Given the description of an element on the screen output the (x, y) to click on. 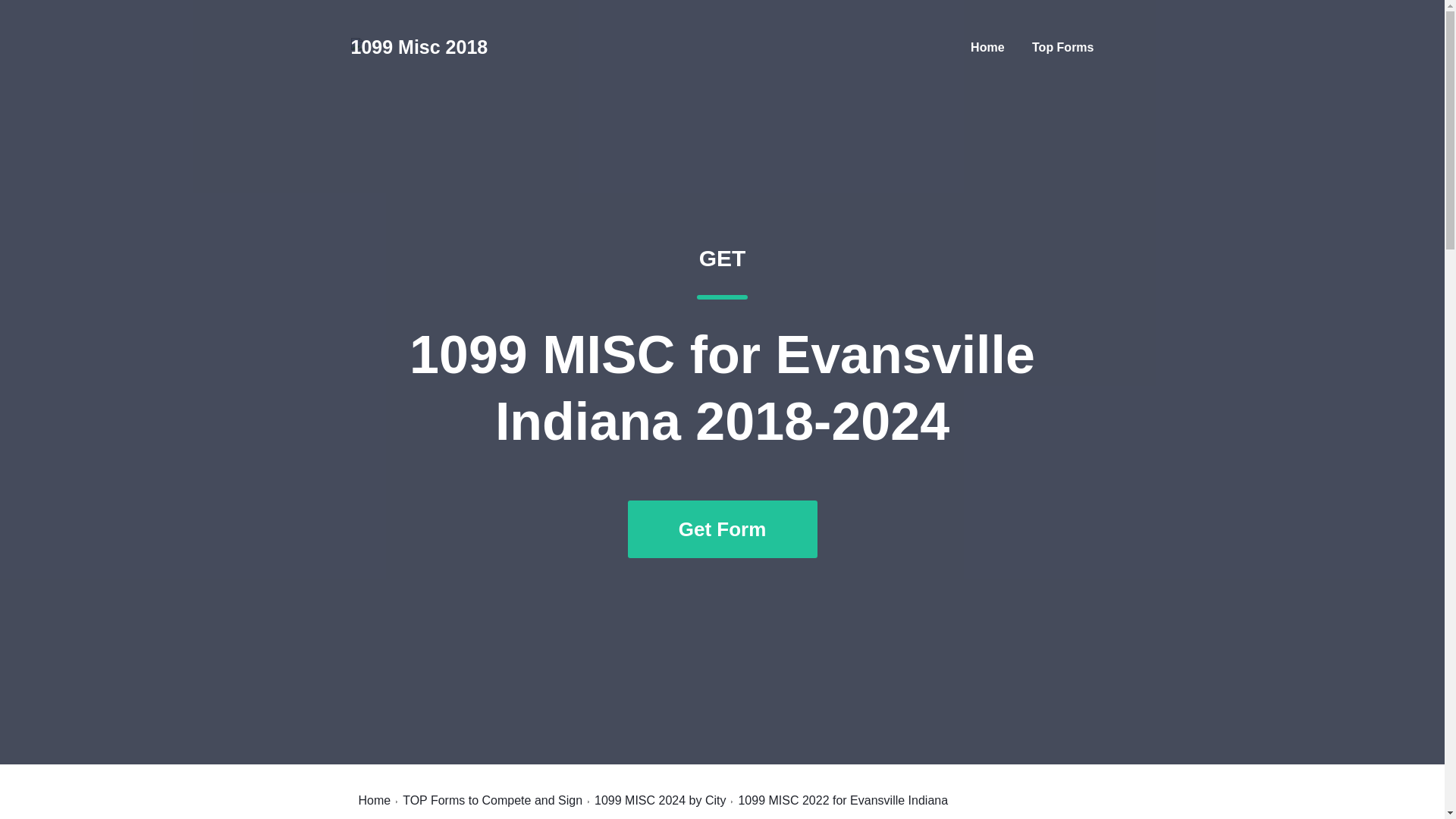
1099 MISC 2024 by City (659, 800)
1099 Misc 2018 (418, 46)
TOP Forms to Compete and Sign (374, 800)
Top Forms (492, 800)
Home (1062, 47)
